Given the description of an element on the screen output the (x, y) to click on. 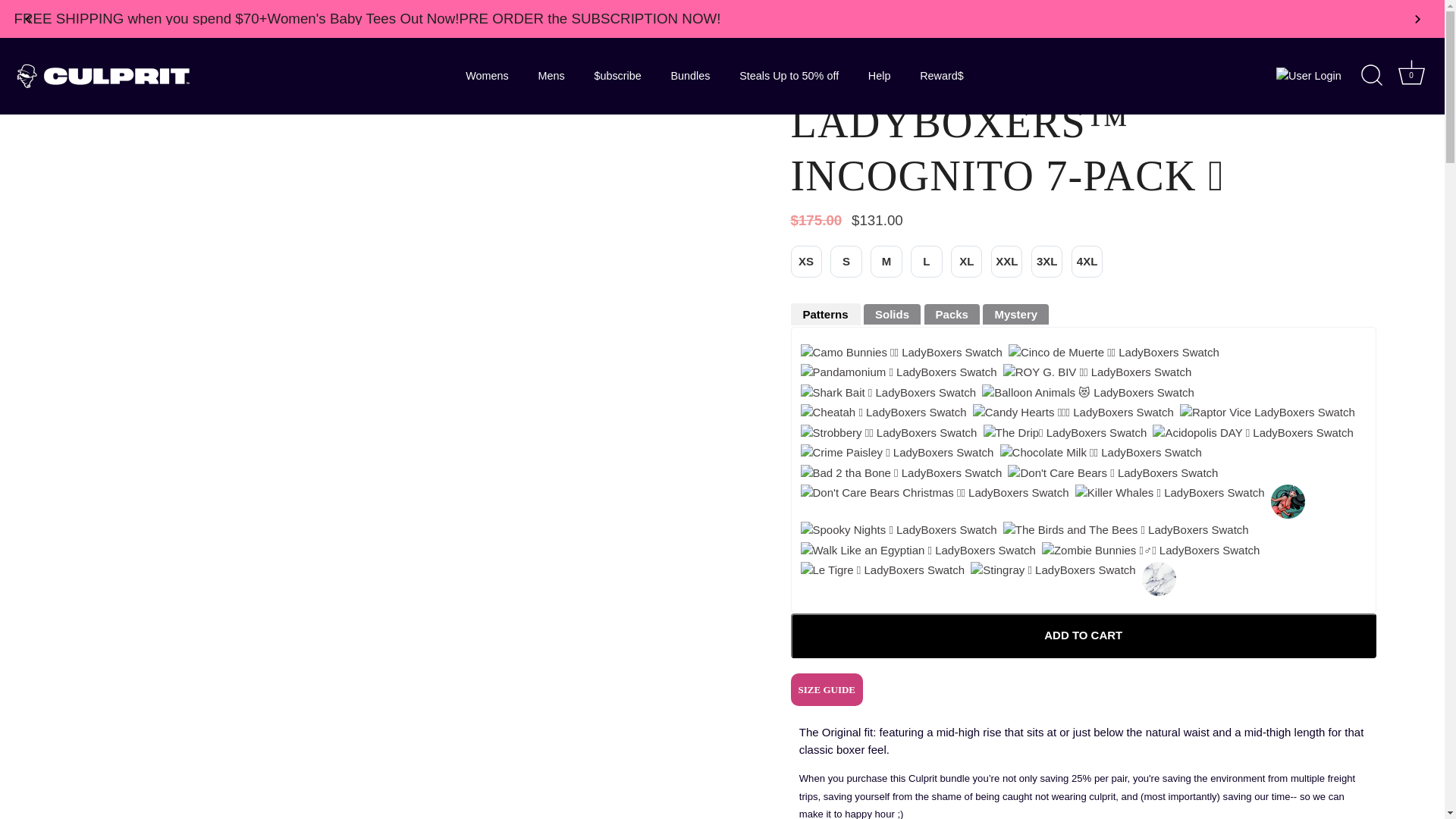
Baby Tees (363, 18)
Womens (486, 76)
Skip to content (17, 20)
Cart (1411, 71)
Mens (551, 76)
Women's Baby Tees Out Now! (363, 18)
